Given the description of an element on the screen output the (x, y) to click on. 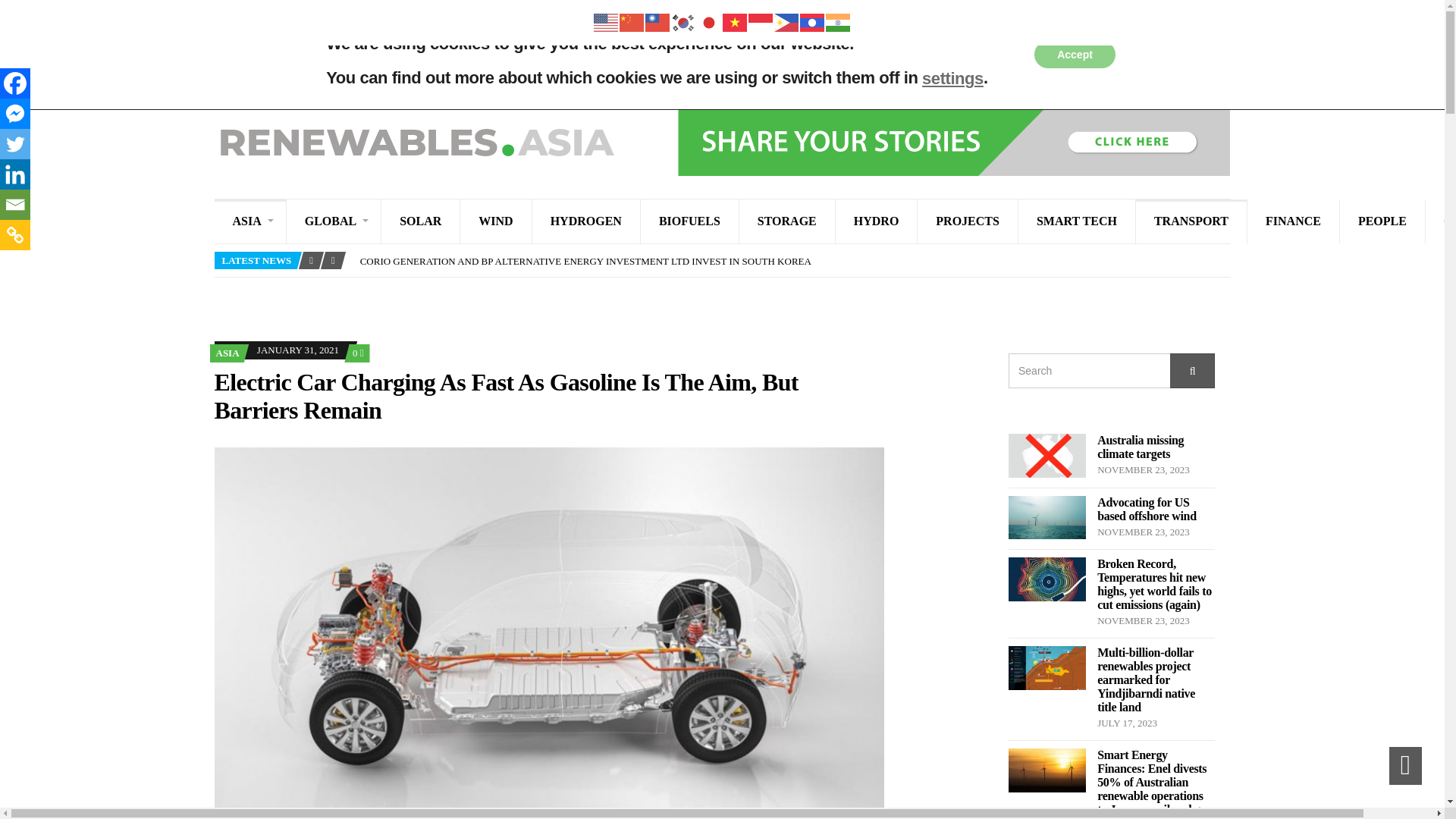
Japanese (708, 21)
Vietnamese (735, 21)
Filipino (786, 21)
Facebook (15, 82)
Hindi (837, 21)
English (605, 21)
Twitter (15, 143)
Korean (682, 21)
Indonesian (760, 21)
Lao (812, 21)
